Given the description of an element on the screen output the (x, y) to click on. 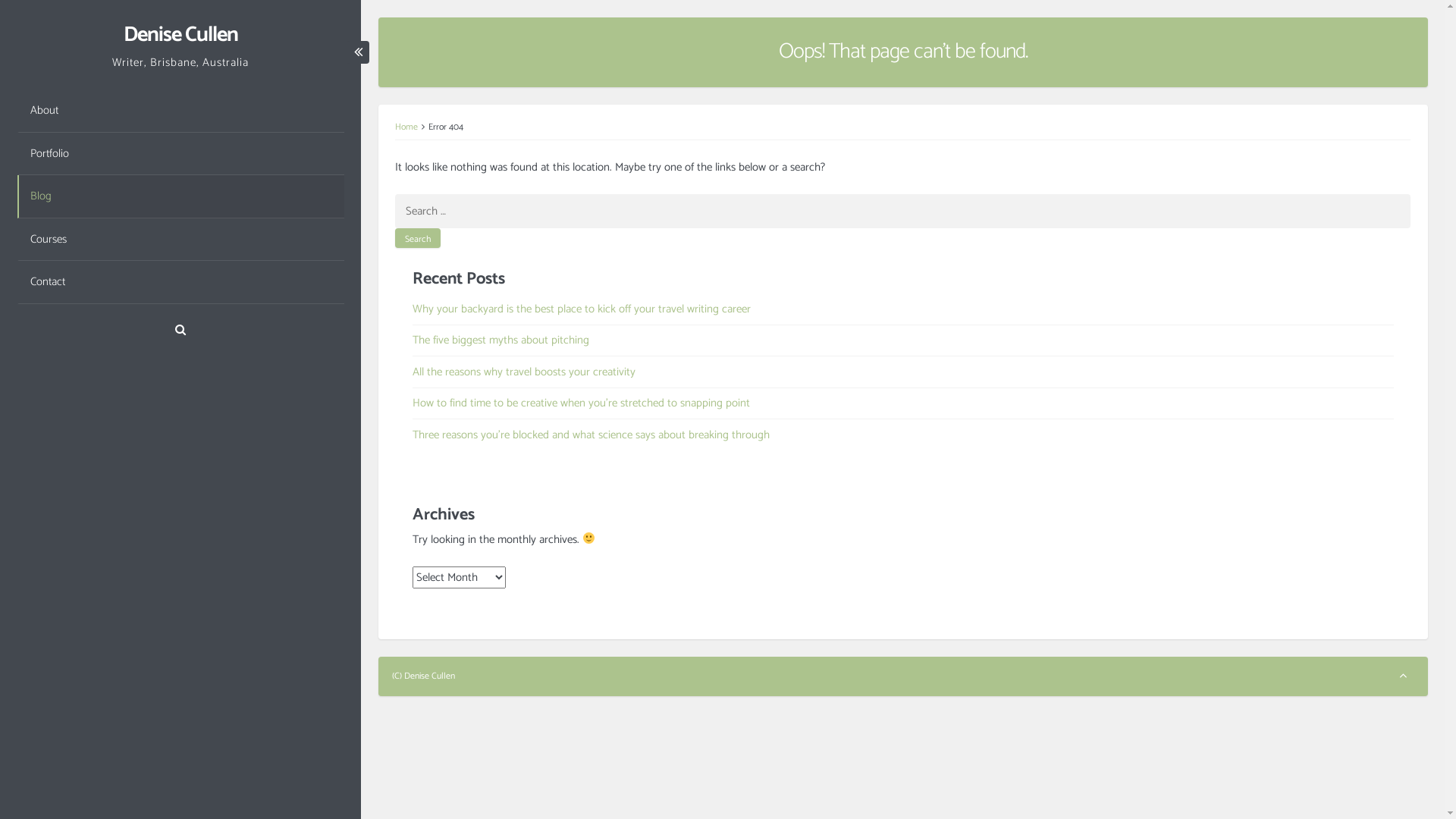
Search Element type: text (417, 237)
Portfolio Element type: text (179, 153)
All the reasons why travel boosts your creativity Element type: text (523, 371)
Courses Element type: text (179, 239)
Denise Cullen Element type: text (180, 33)
About Element type: text (179, 110)
Contact Element type: text (179, 282)
Blog Element type: text (179, 196)
The five biggest myths about pitching Element type: text (500, 339)
Home Element type: text (406, 126)
